Given the description of an element on the screen output the (x, y) to click on. 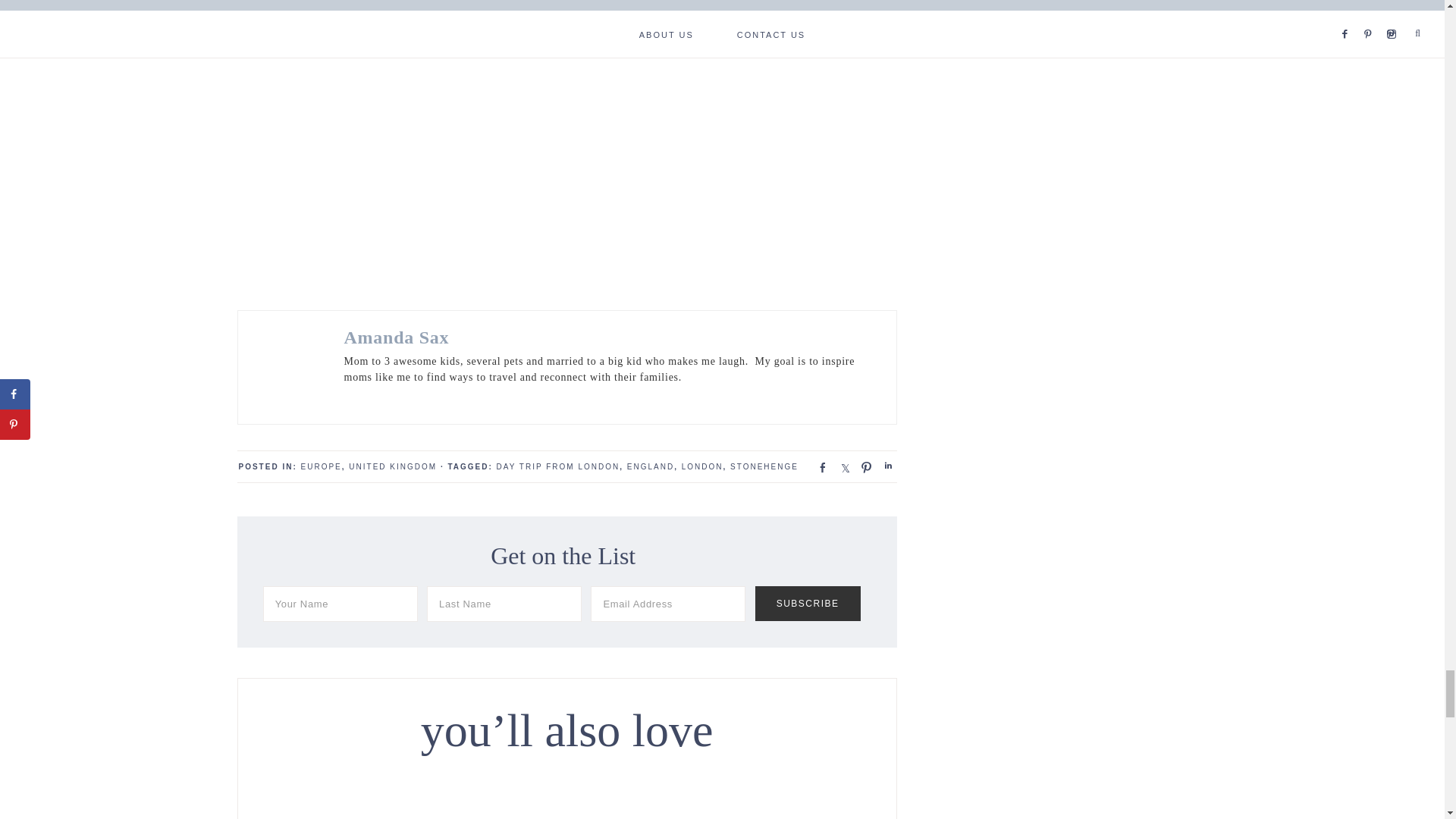
Subscribe (807, 603)
